Given the description of an element on the screen output the (x, y) to click on. 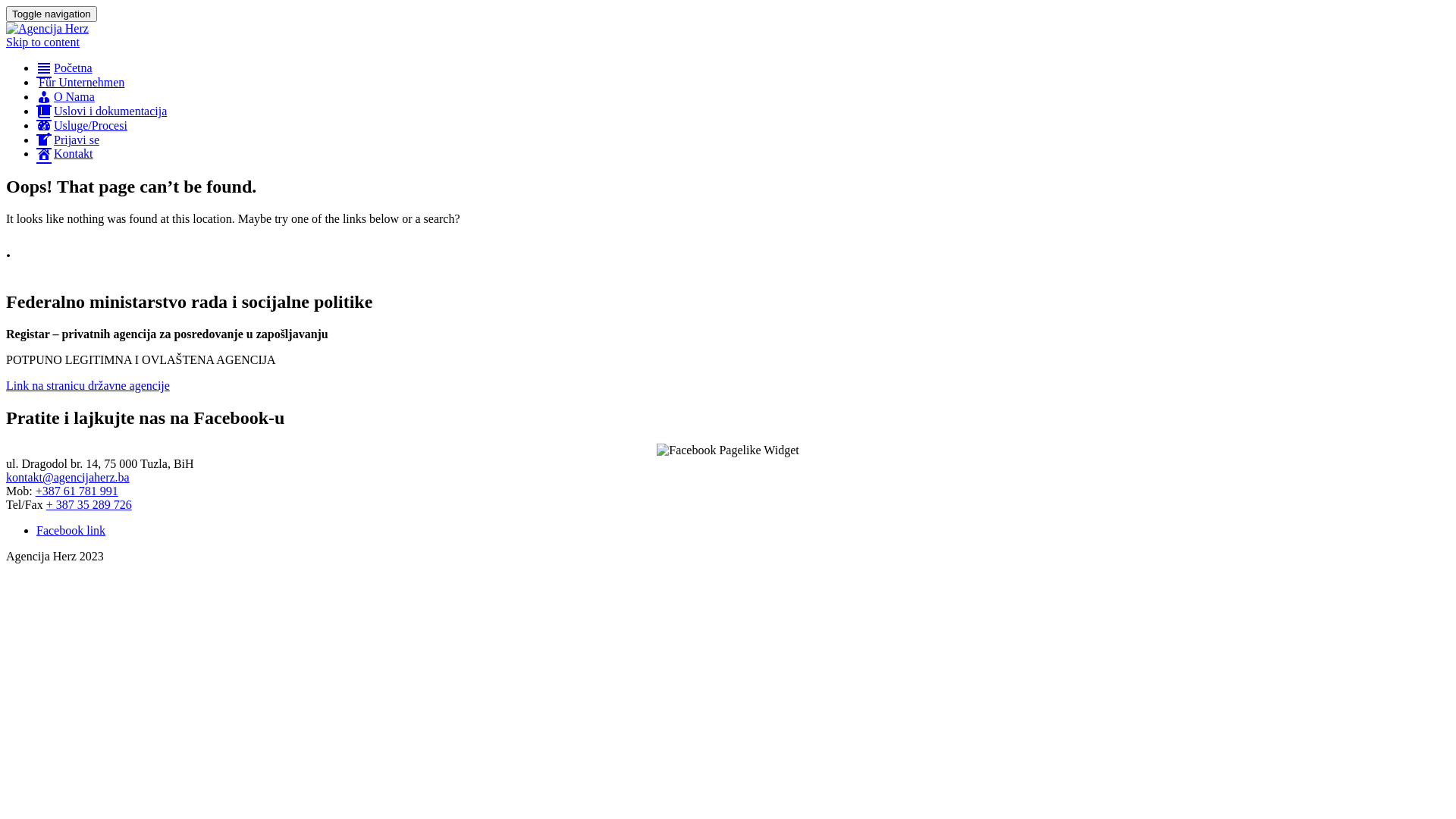
+ 387 35 289 726 Element type: text (88, 504)
Skip to content Element type: text (42, 41)
+387 61 781 991 Element type: text (76, 490)
O Nama Element type: text (65, 96)
Facebook link Element type: text (70, 530)
Prijavi se Element type: text (67, 139)
Toggle navigation Element type: text (51, 13)
Uslovi i dokumentacija Element type: text (101, 110)
kontakt@agencijaherz.ba Element type: text (67, 476)
Usluge/Procesi Element type: text (81, 125)
Kontakt Element type: text (64, 153)
